Given the description of an element on the screen output the (x, y) to click on. 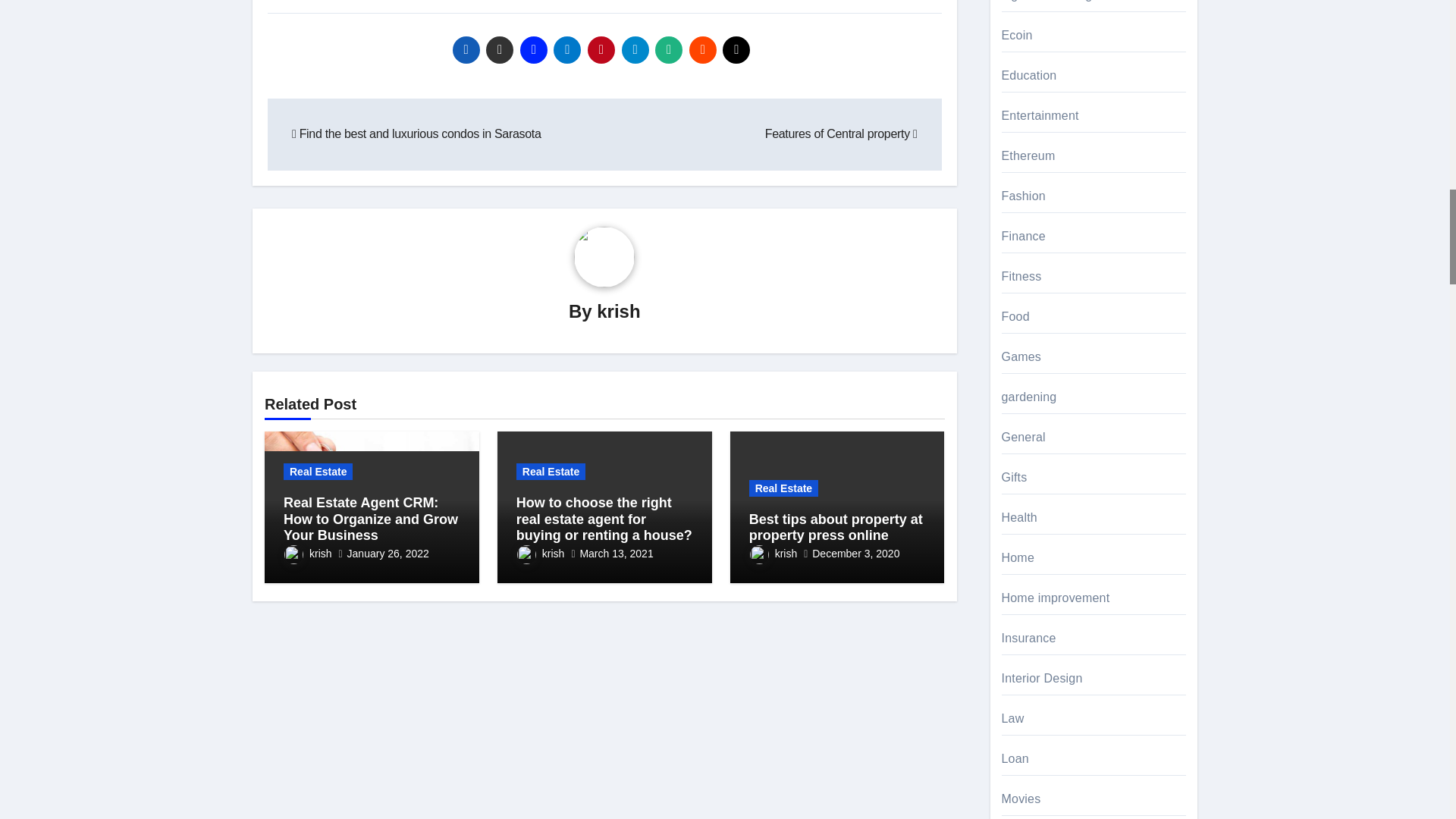
Features of Central property (841, 133)
krish (307, 553)
krish (618, 311)
Real Estate (317, 471)
Find the best and luxurious condos in Sarasota (416, 133)
